Given the description of an element on the screen output the (x, y) to click on. 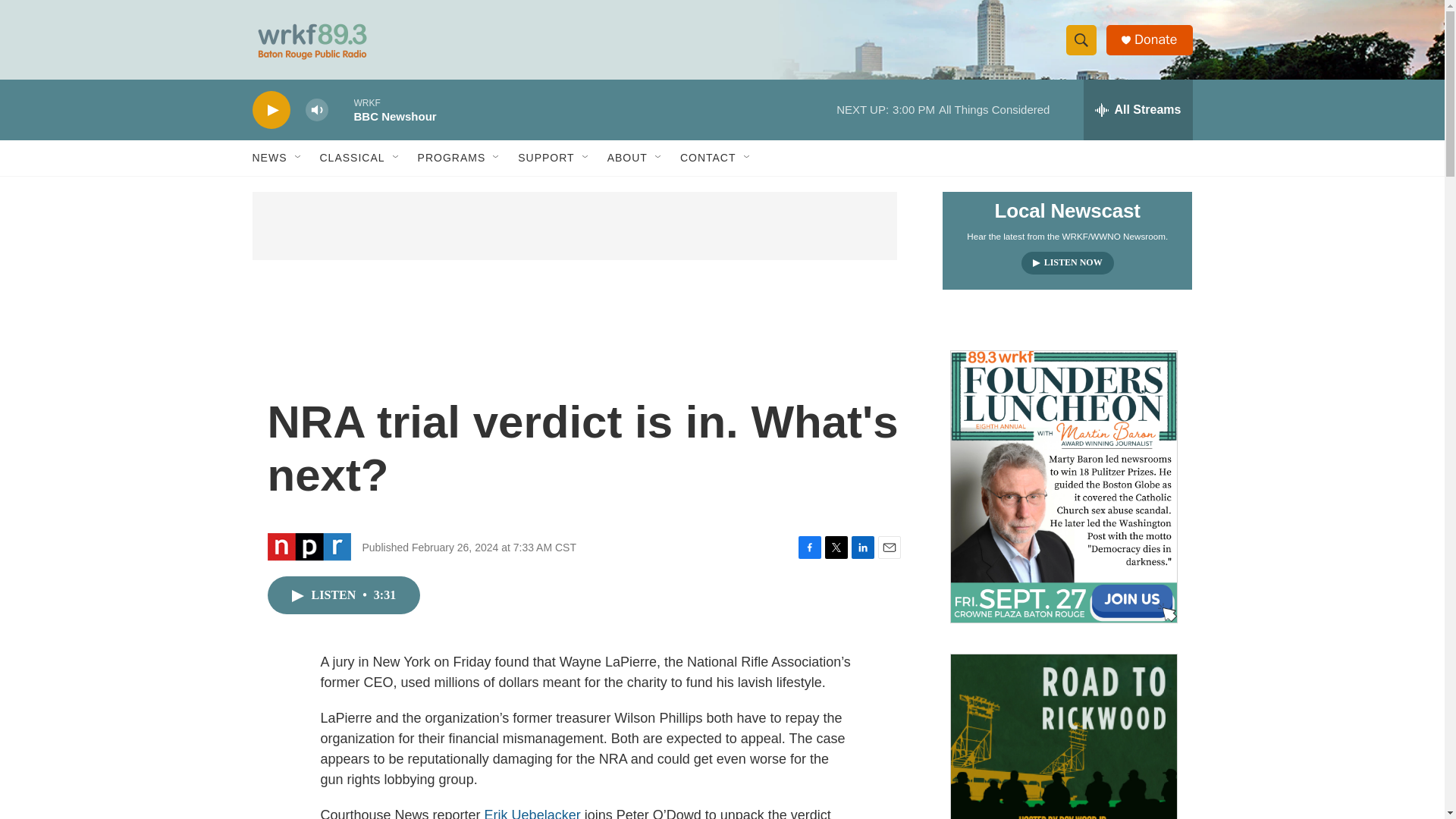
3rd party ad content (574, 225)
